Given the description of an element on the screen output the (x, y) to click on. 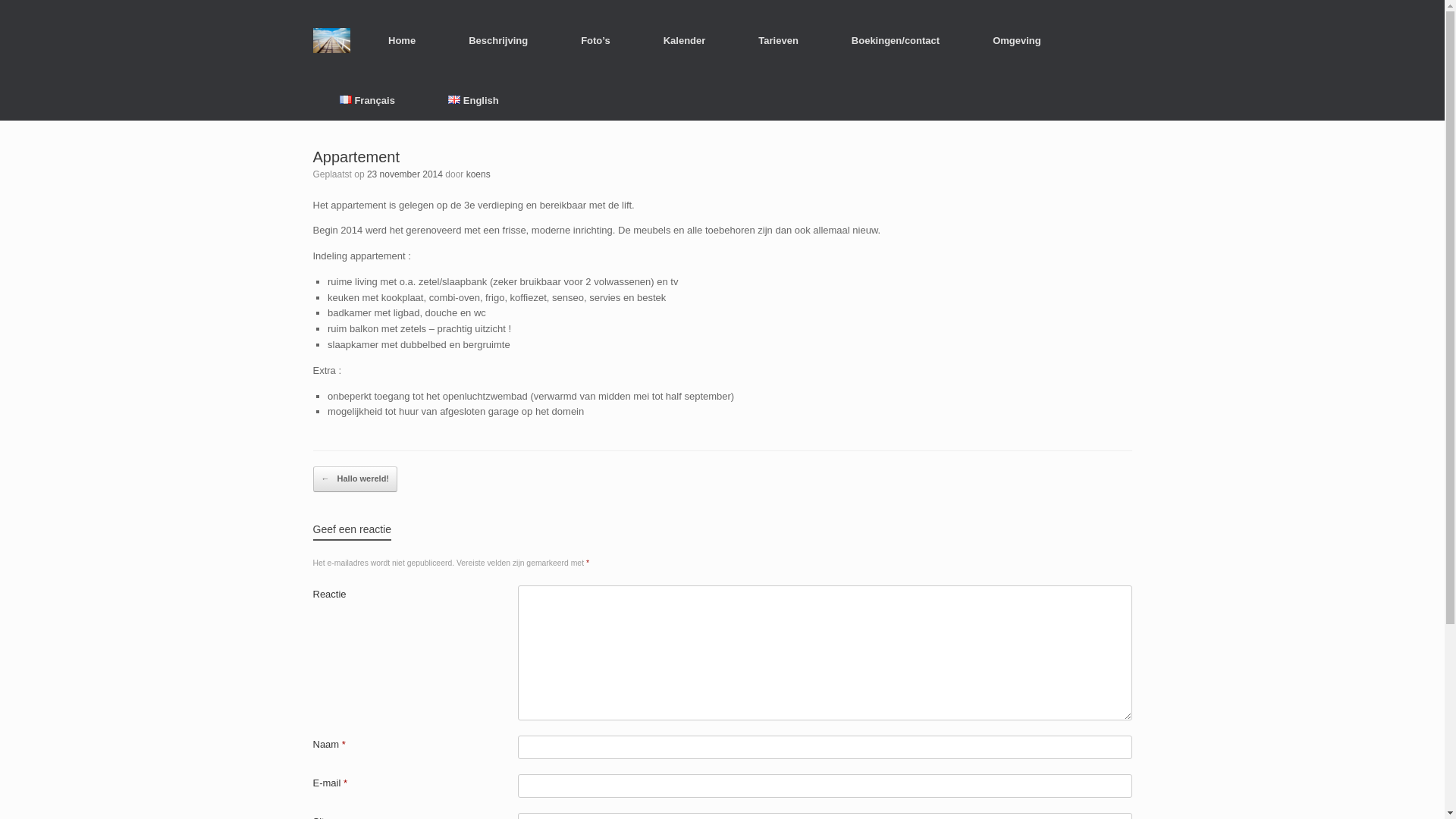
koens Element type: text (478, 174)
Tarieven Element type: text (778, 39)
Kalender Element type: text (684, 39)
Boekingen/contact Element type: text (895, 39)
English Element type: text (473, 100)
Home Element type: text (401, 39)
23 november 2014 Element type: text (404, 174)
Beschrijving Element type: text (498, 39)
Appartement Green Garden Element type: hover (331, 39)
Omgeving Element type: text (1016, 39)
